Given the description of an element on the screen output the (x, y) to click on. 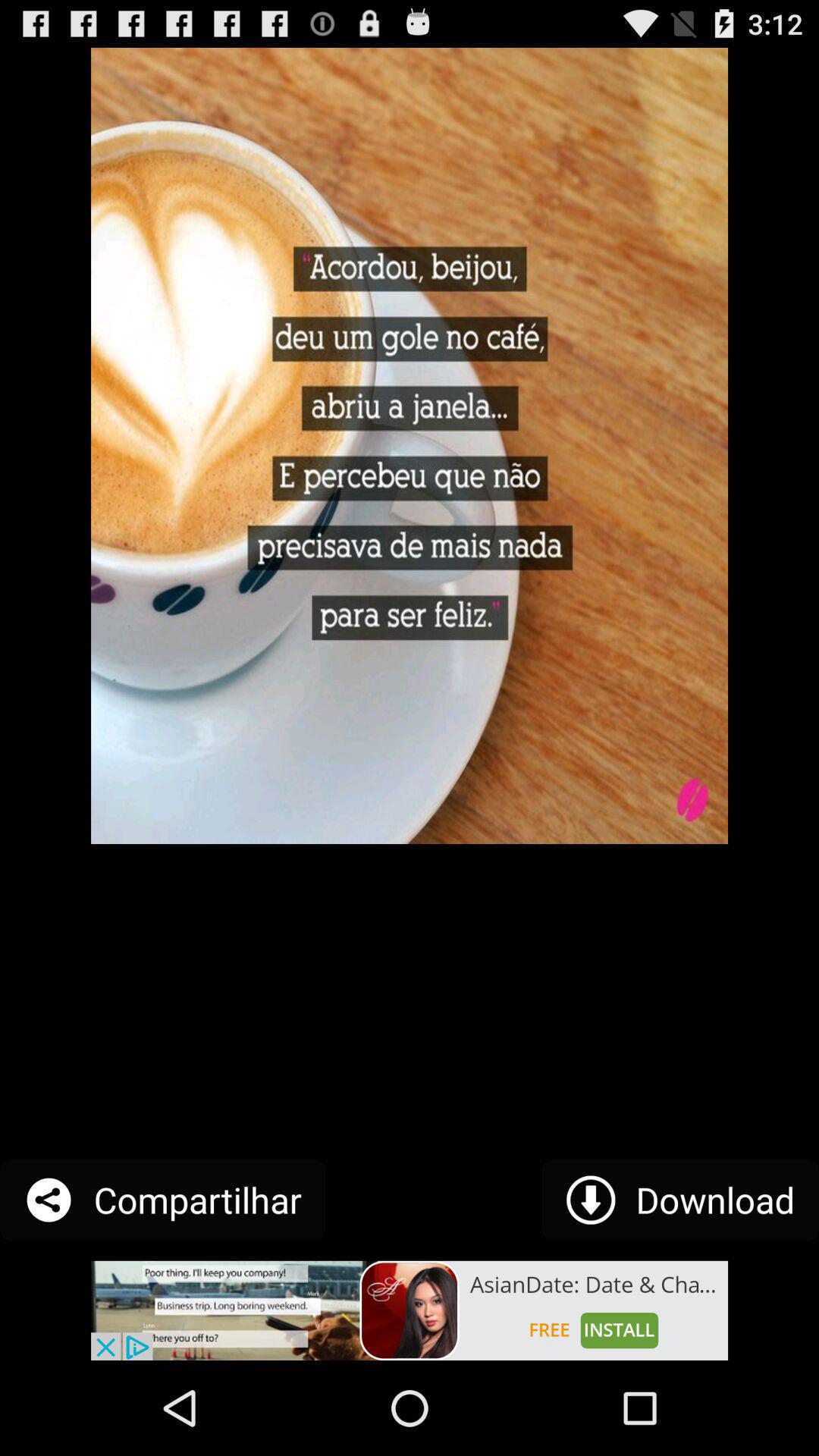
select image (409, 1310)
